Given the description of an element on the screen output the (x, y) to click on. 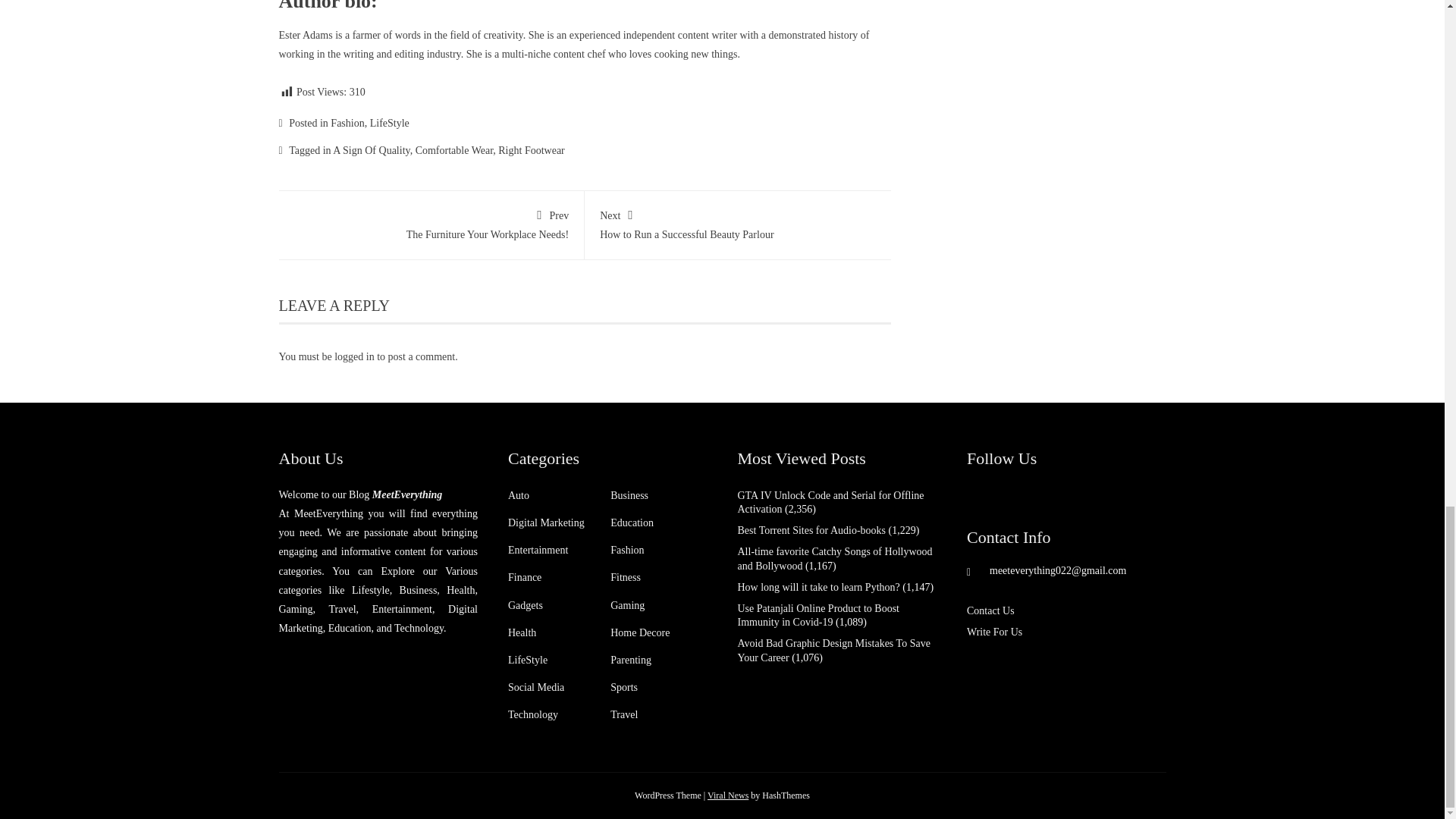
Comfortable Wear (453, 150)
Fashion (347, 122)
A Sign Of Quality (431, 223)
LifeStyle (371, 150)
Download Viral News (389, 122)
Right Footwear (727, 795)
